Given the description of an element on the screen output the (x, y) to click on. 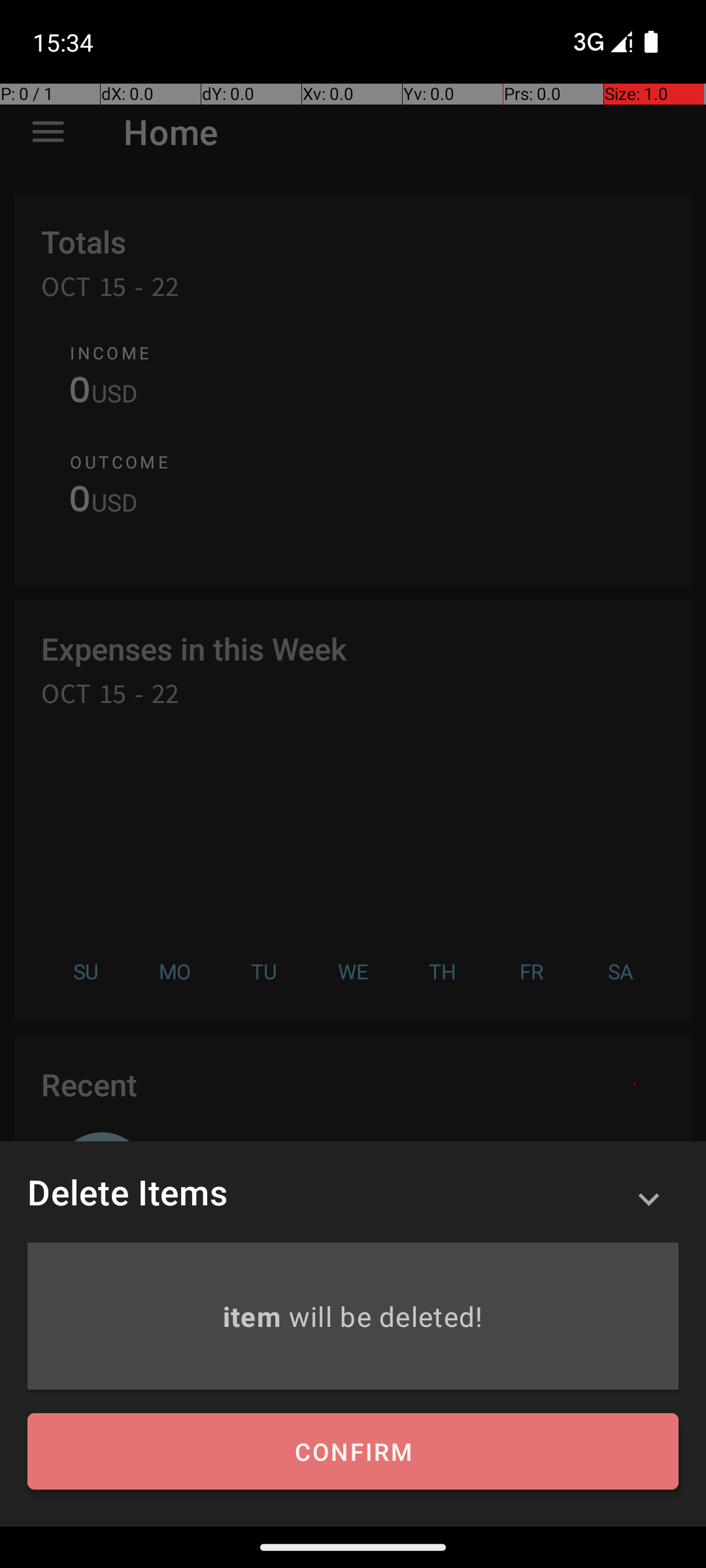
Delete Items Element type: android.widget.TextView (127, 1191)
item  Element type: android.widget.TextView (255, 1315)
will be deleted! Element type: android.widget.TextView (385, 1315)
CONFIRM Element type: android.widget.Button (352, 1451)
